Given the description of an element on the screen output the (x, y) to click on. 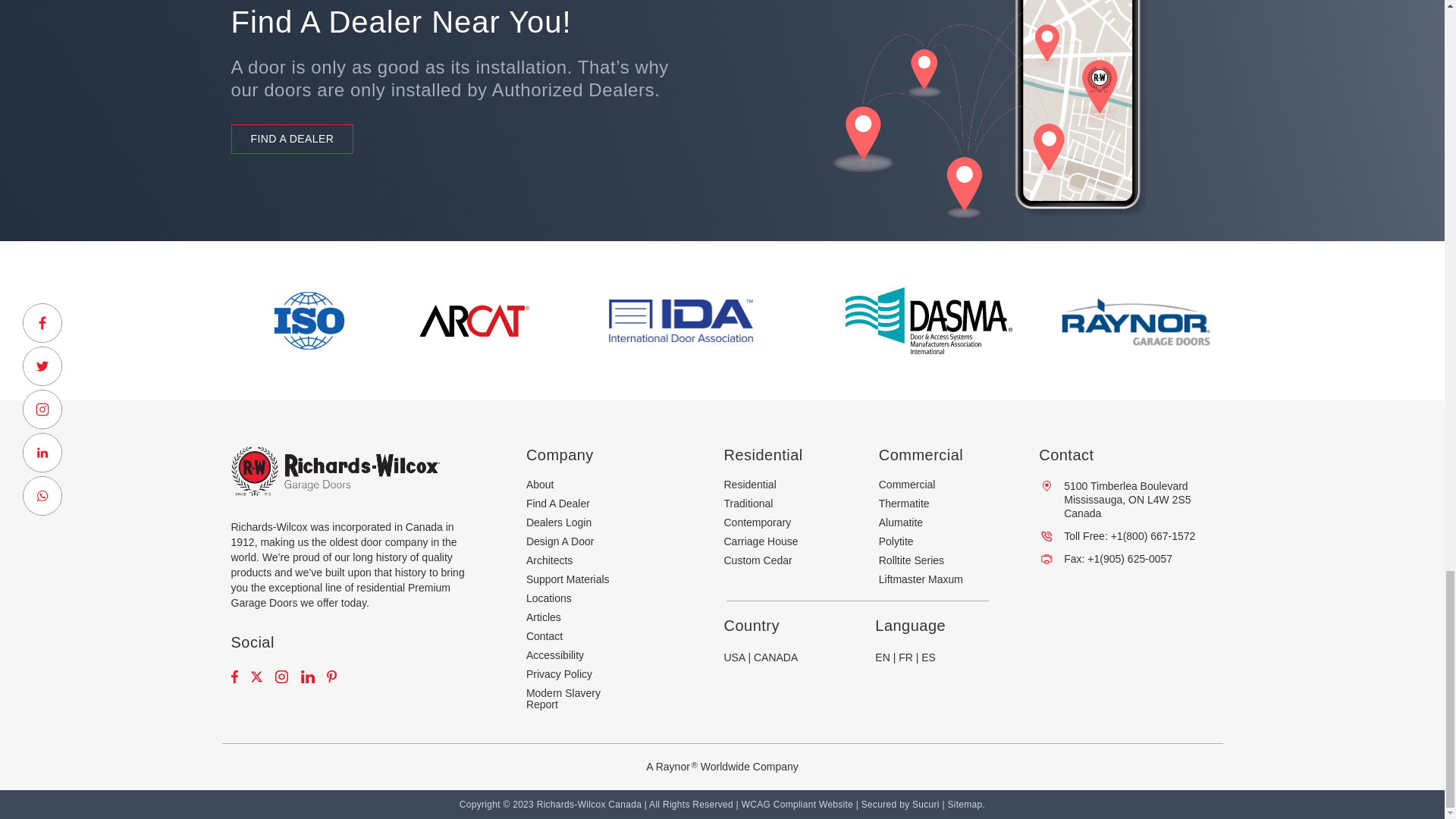
group 1767 (309, 320)
group 1765 (928, 320)
group 1764 (680, 320)
find-a-dealer-mobile-locations (967, 120)
RAYNOR-Logo-footer (1134, 320)
group 1763 (474, 320)
